Given the description of an element on the screen output the (x, y) to click on. 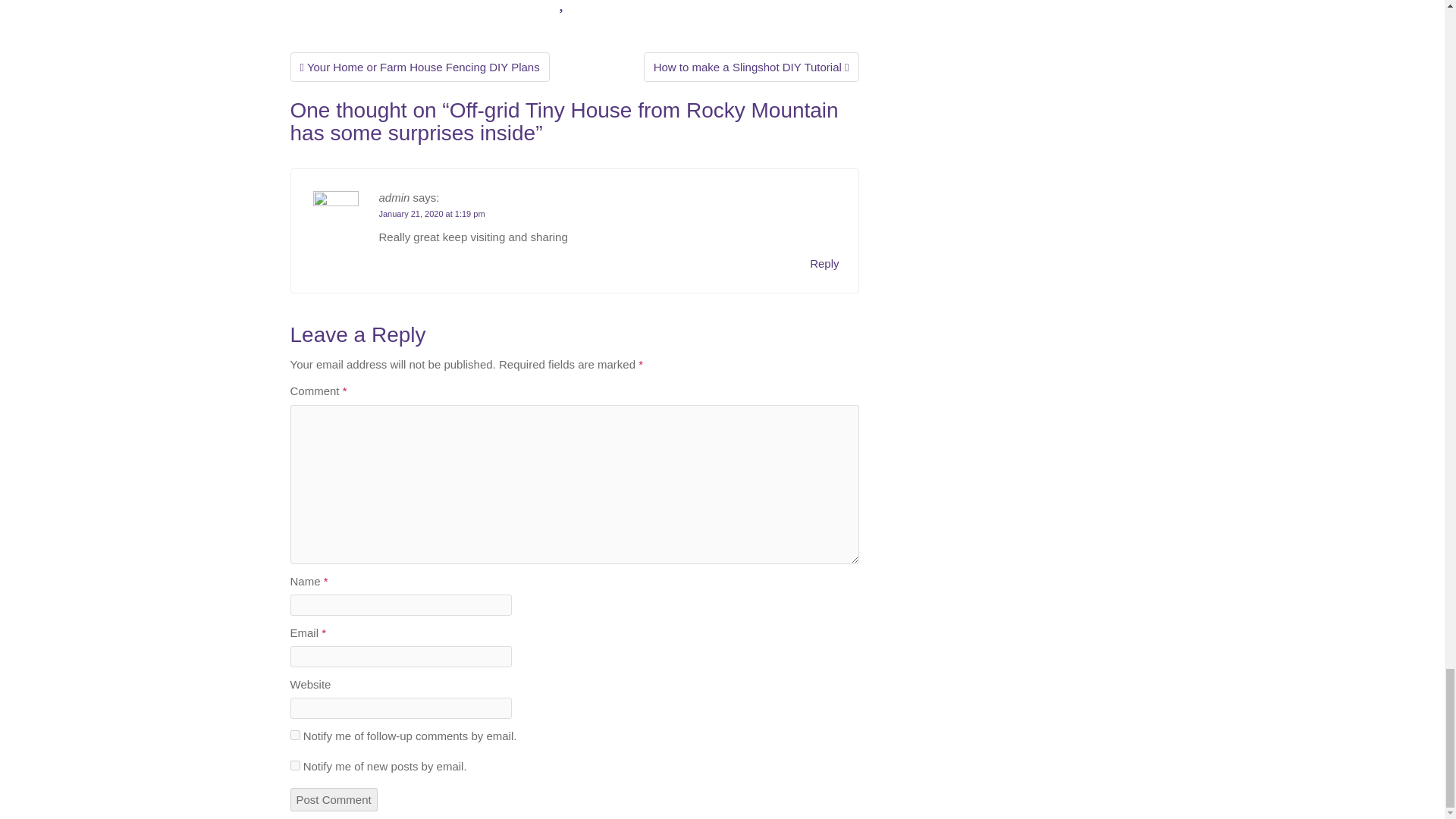
January 21, 2020 at 1:19 pm (431, 213)
Post Comment (333, 799)
Your Home or Farm House Fencing DIY Plans (418, 67)
Post Comment (333, 799)
subscribe (294, 735)
subscribe (294, 765)
Reply (823, 263)
How to make a Slingshot DIY Tutorial (751, 67)
